Given the description of an element on the screen output the (x, y) to click on. 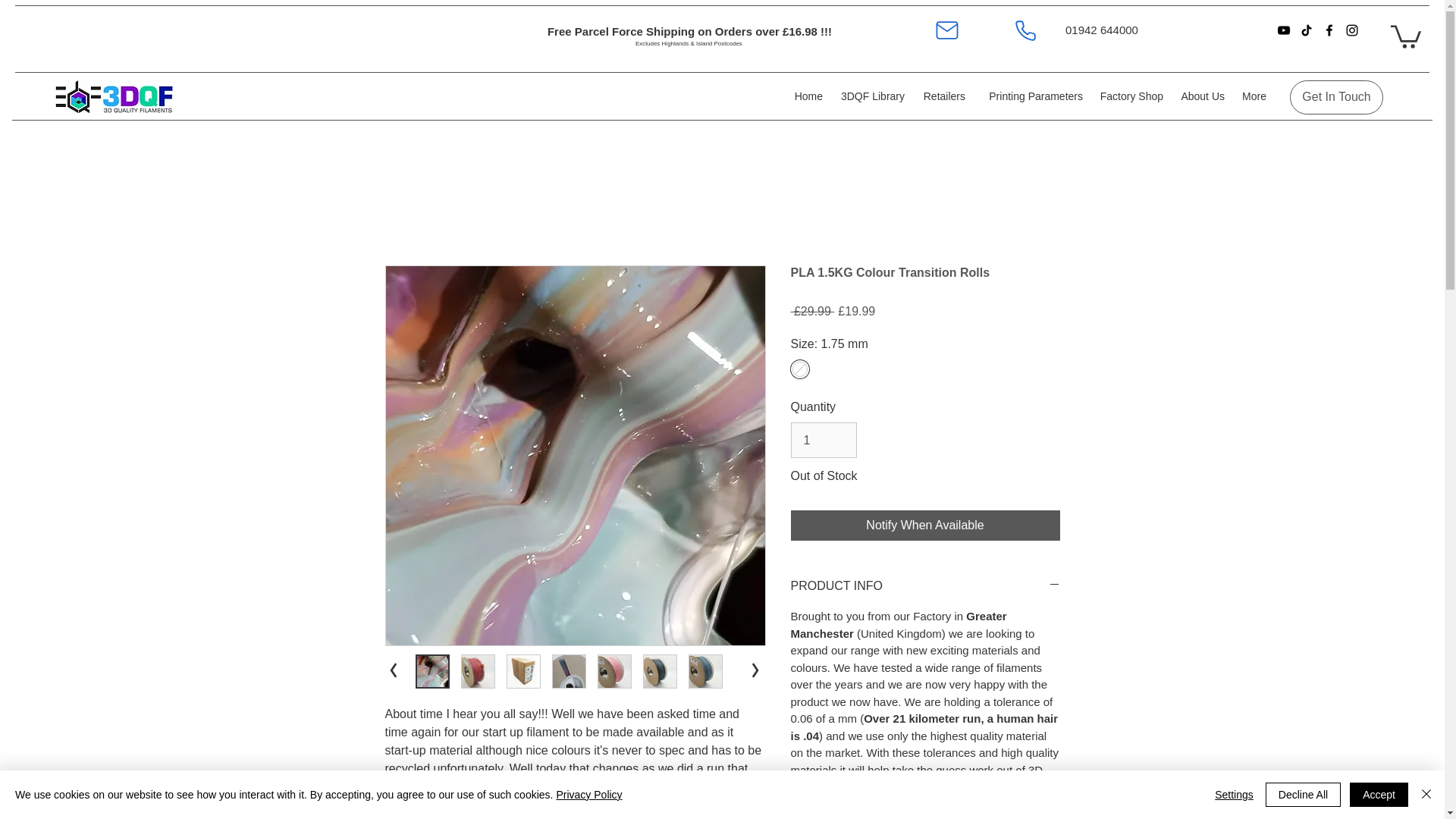
About Us (1200, 96)
Home (806, 96)
Factory Shop (1130, 96)
1 (823, 439)
Retailers (942, 96)
Printing Parameters (1031, 96)
3DQF Library (870, 96)
Get In Touch (1336, 97)
